Given the description of an element on the screen output the (x, y) to click on. 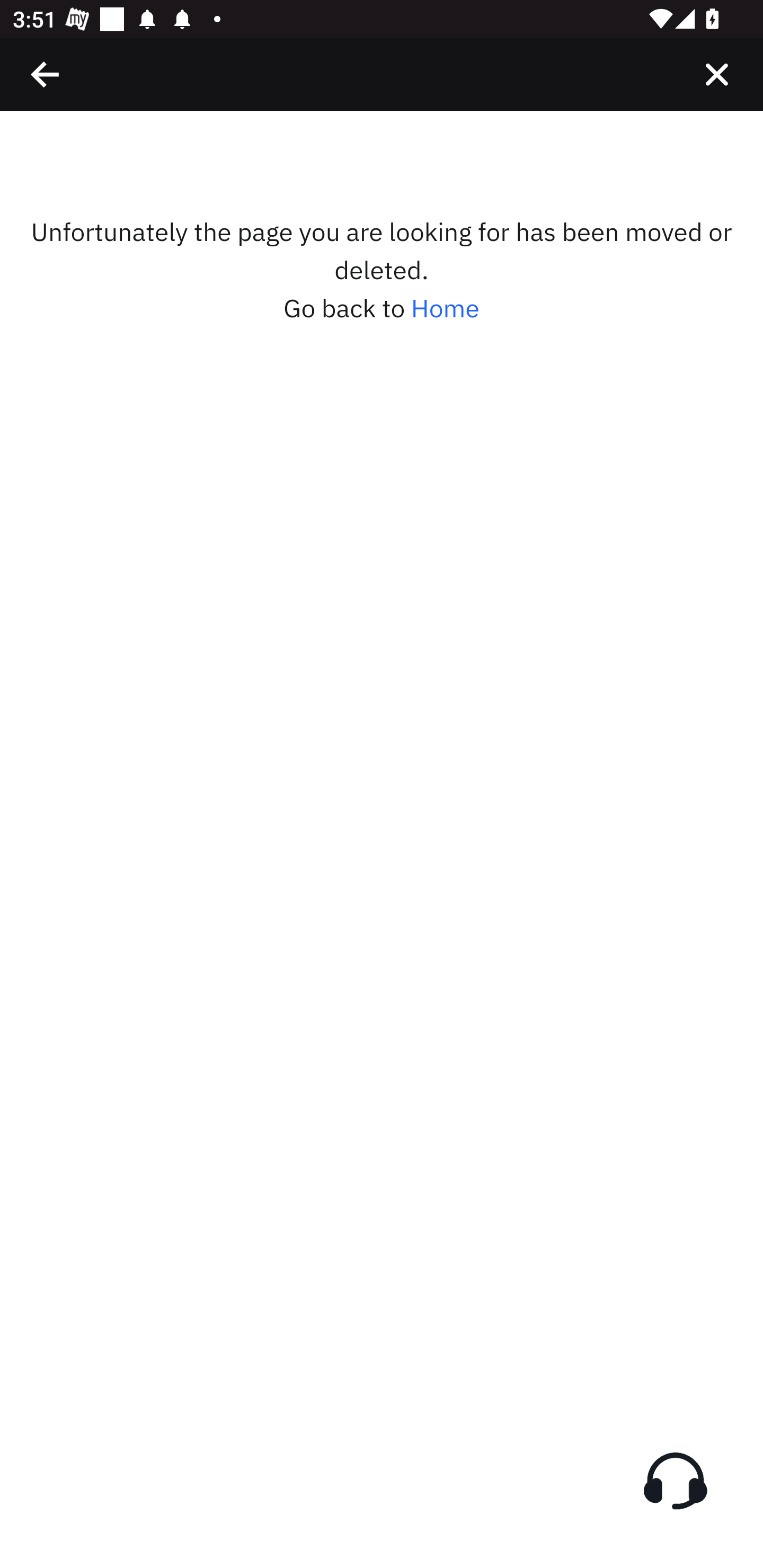
 (46, 74)
 (716, 74)
Home (444, 308)
Nova Your Virtual Assistant! button (674, 1480)
